Given the description of an element on the screen output the (x, y) to click on. 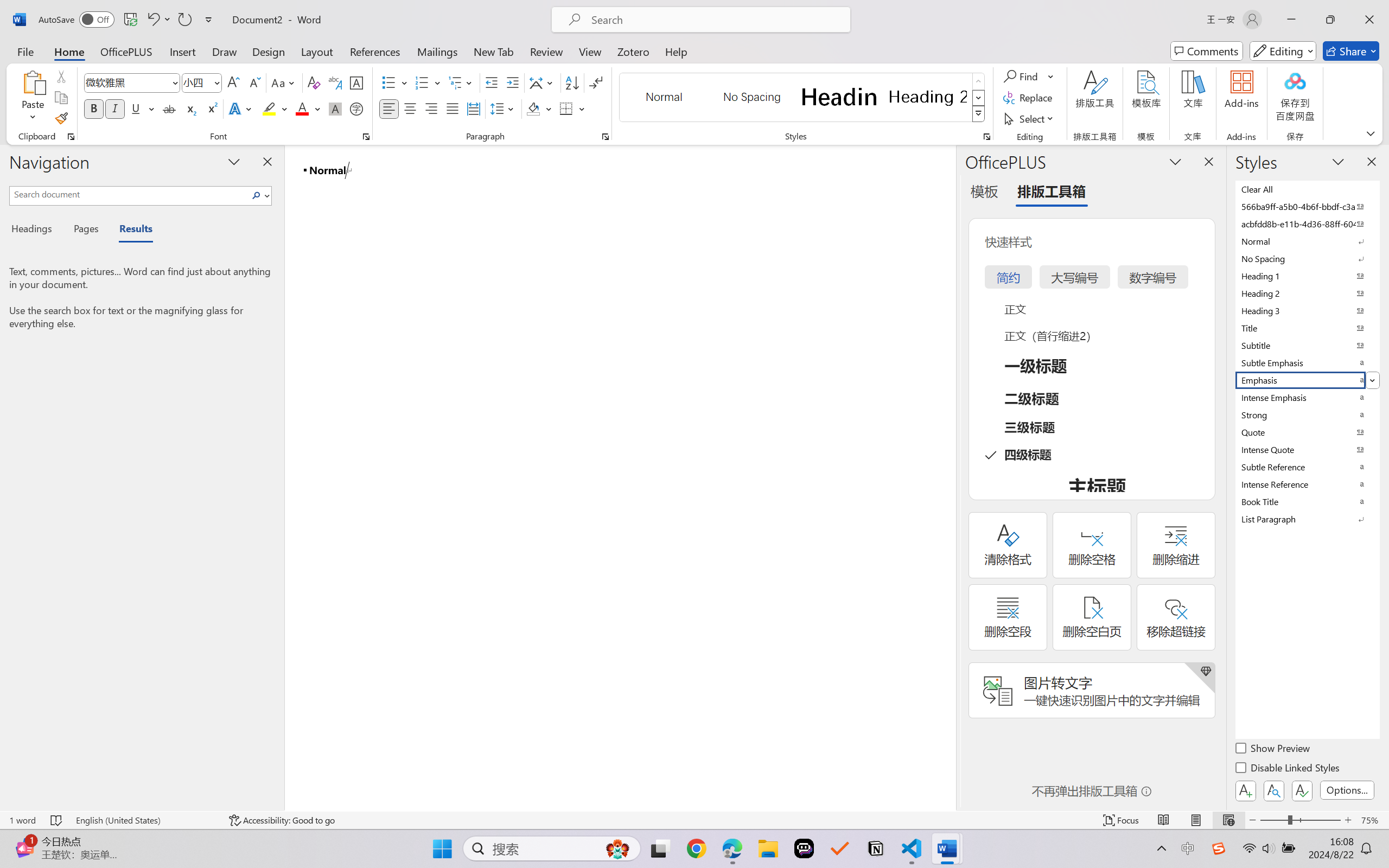
Undo Style (152, 19)
Decrease Indent (491, 82)
Repeat Style (184, 19)
Draw (224, 51)
Font Color (308, 108)
AutomationID: DynamicSearchBoxGleamImage (617, 848)
Format Painter (60, 118)
Sort... (571, 82)
New Tab (493, 51)
Save (130, 19)
Heading 2 (927, 96)
